Given the description of an element on the screen output the (x, y) to click on. 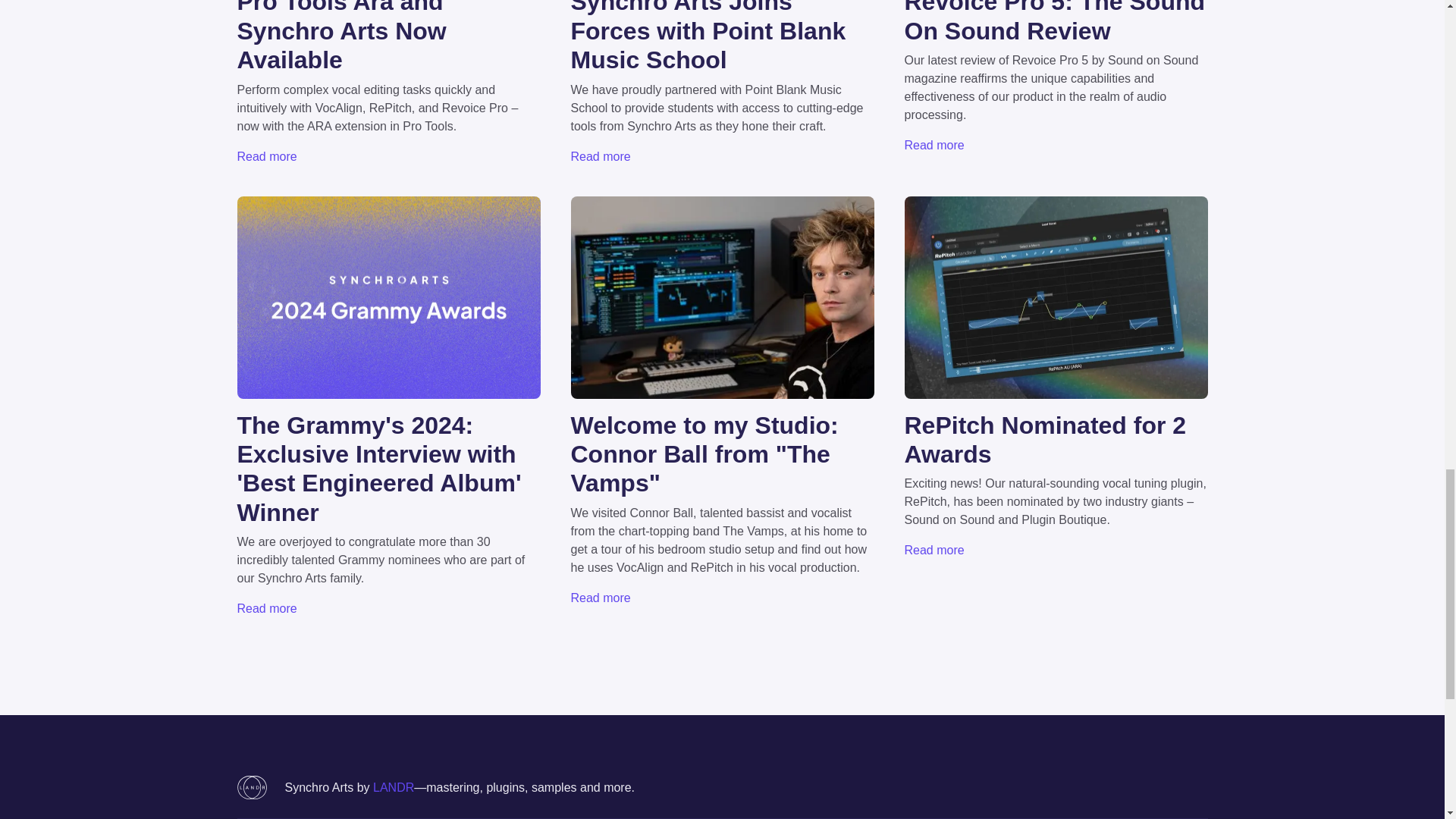
Read more (266, 608)
LANDR (392, 787)
Read more (600, 597)
Read more (933, 549)
Read more (933, 144)
Read more (600, 155)
Read more (266, 155)
